Given the description of an element on the screen output the (x, y) to click on. 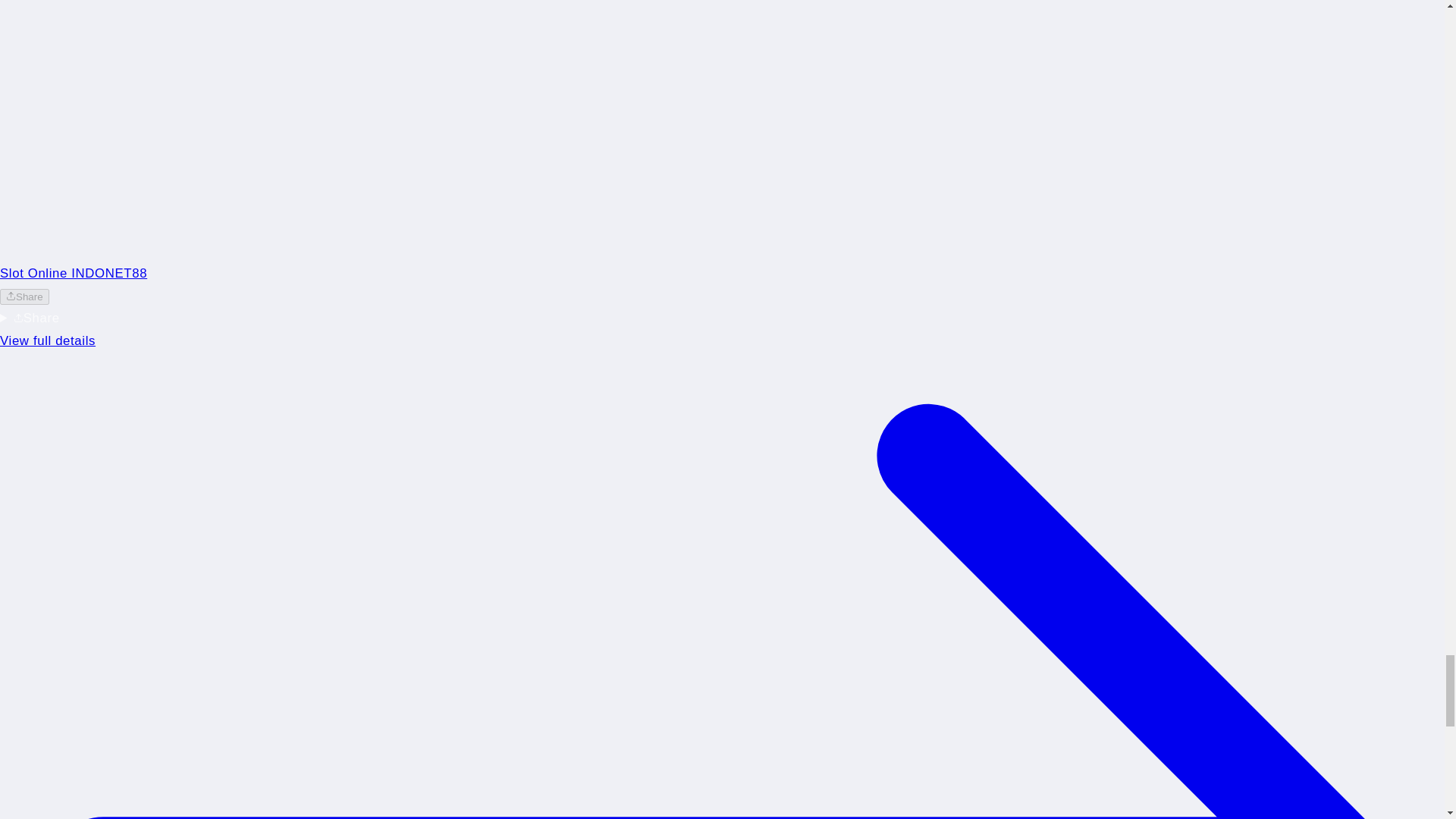
Slot Online INDONET88 (73, 273)
Share (24, 296)
